Given the description of an element on the screen output the (x, y) to click on. 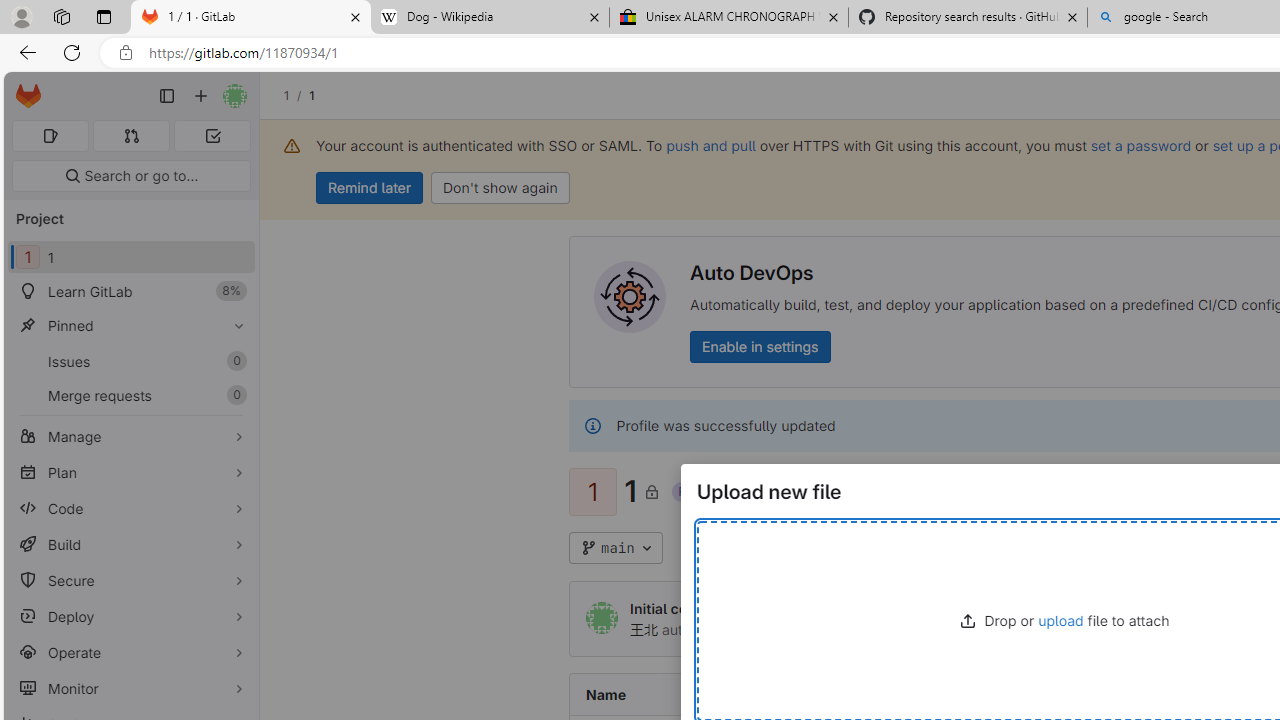
Operate (130, 651)
1 1 (130, 257)
Name (723, 694)
1 (684, 548)
Class: s16 icon (651, 491)
Plan (130, 471)
Merge requests0 (130, 394)
push and pull (710, 145)
Operate (130, 651)
Assigned issues 0 (50, 136)
Primary navigation sidebar (167, 96)
